Given the description of an element on the screen output the (x, y) to click on. 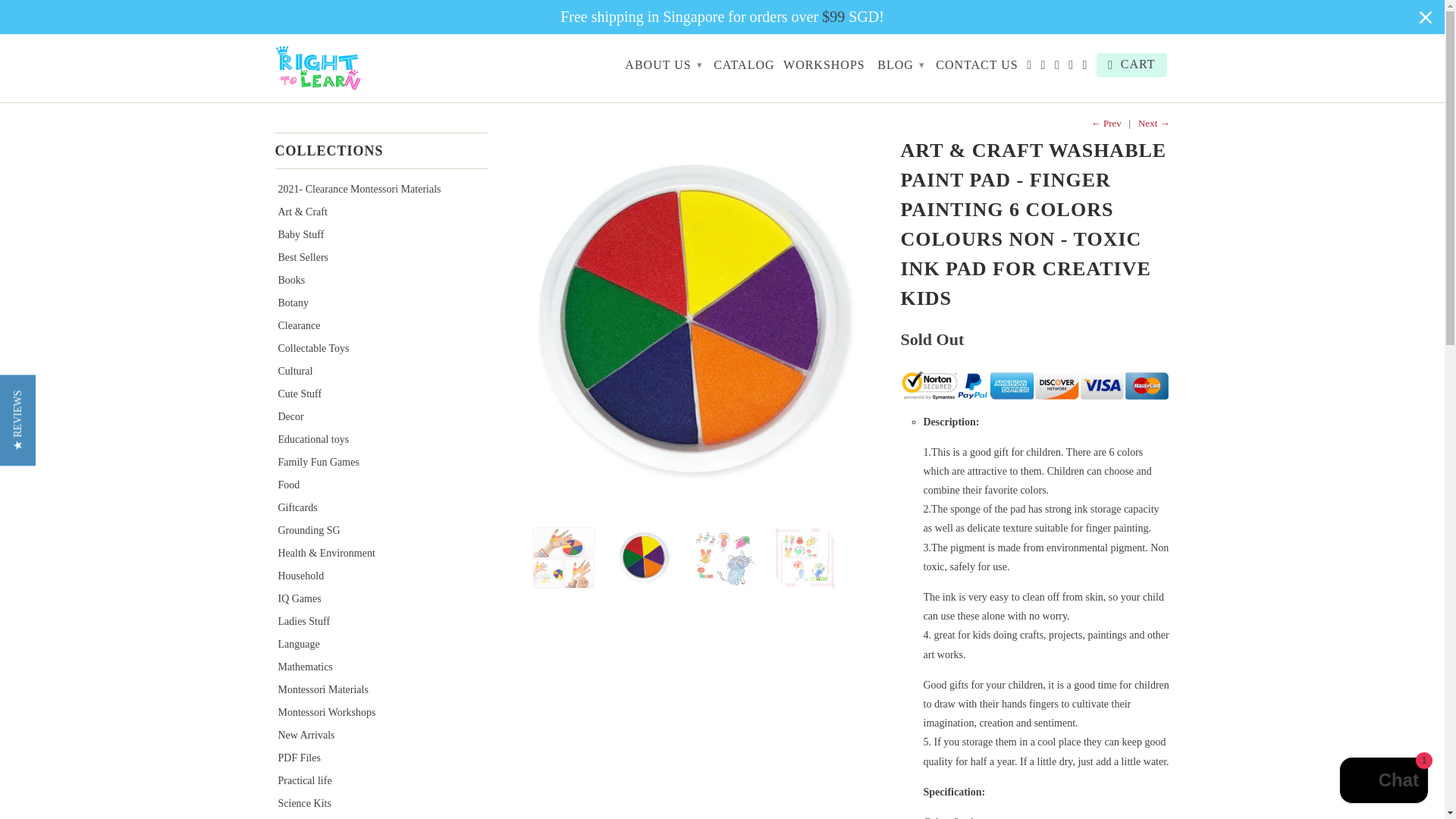
Baby Stuff (295, 234)
Cute Stuff (294, 393)
Collectable Toys (308, 348)
2021- Clearance Montessori Materials (354, 188)
Decor (284, 416)
Botany (287, 302)
Best Sellers (298, 256)
RightToLearn.com.sg (350, 67)
Cultural (290, 370)
Books (285, 279)
Clearance (293, 325)
Educational toys (308, 439)
